Given the description of an element on the screen output the (x, y) to click on. 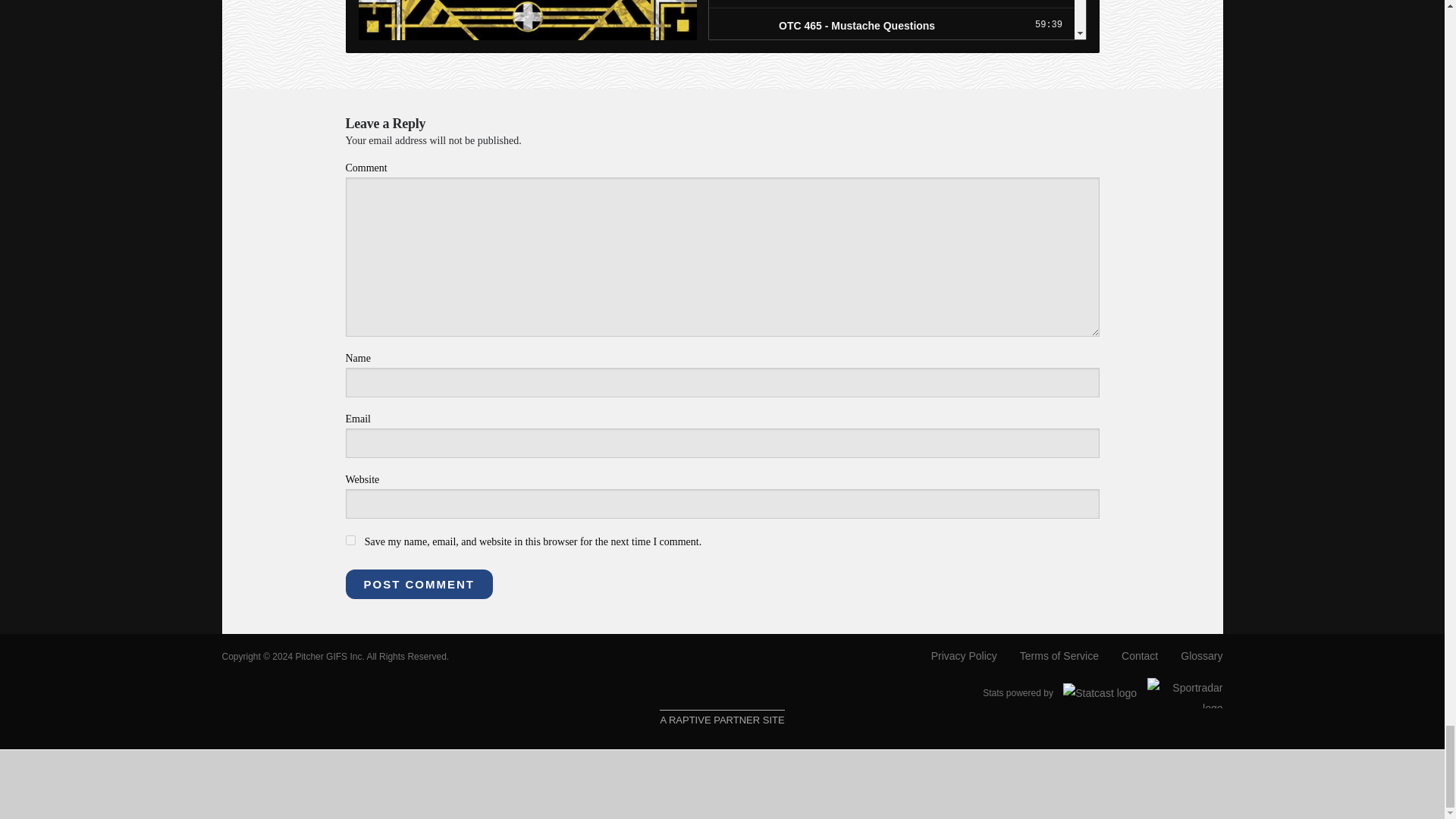
Post Comment (419, 583)
yes (350, 540)
